Given the description of an element on the screen output the (x, y) to click on. 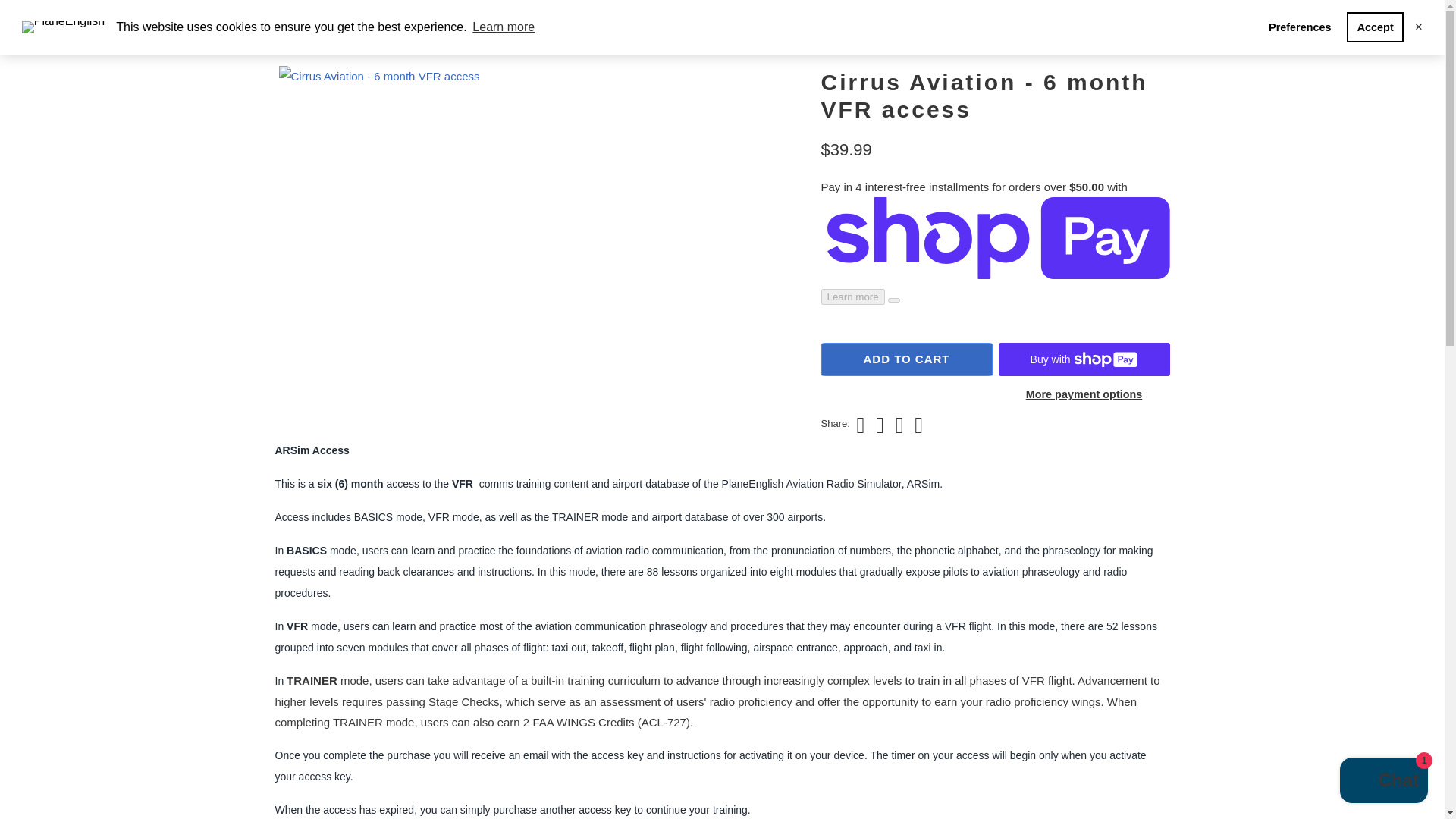
Share this on Facebook (877, 424)
PlaneEnglish (342, 21)
Accept (1374, 27)
Email this to a friend (917, 424)
Shopify online store chat (1383, 781)
Preferences (1299, 27)
Share this on Pinterest (897, 424)
Share this on Twitter (857, 424)
Learn more (503, 26)
